Given the description of an element on the screen output the (x, y) to click on. 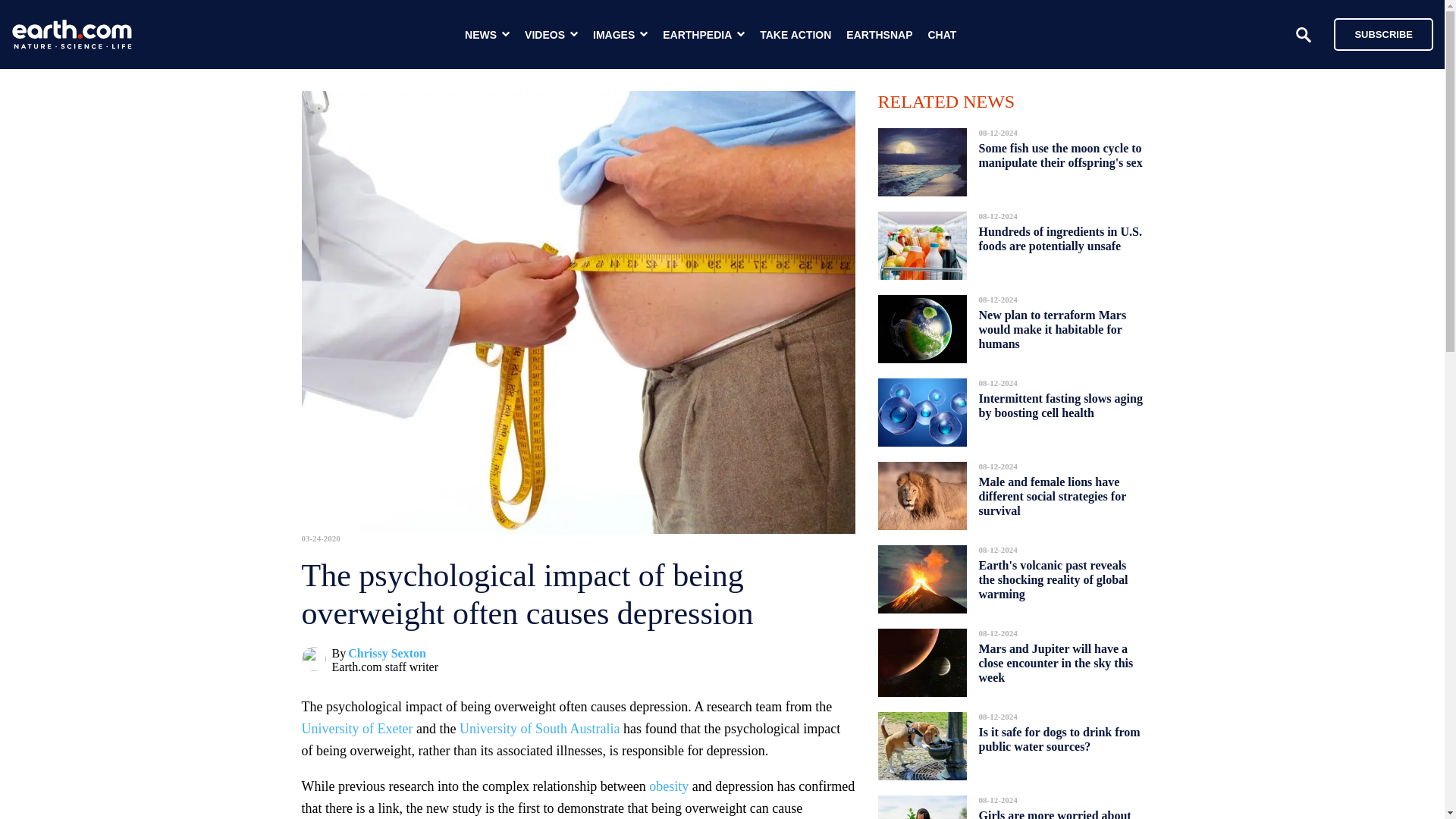
Chrissy Sexton (386, 653)
EARTHSNAP (878, 34)
CHAT (941, 34)
Girls are more worried about climate change than boys (1054, 810)
Intermittent fasting slows aging by boosting cell health (1059, 405)
TAKE ACTION (795, 34)
SUBSCRIBE (1375, 33)
University of Exeter (357, 728)
